Given the description of an element on the screen output the (x, y) to click on. 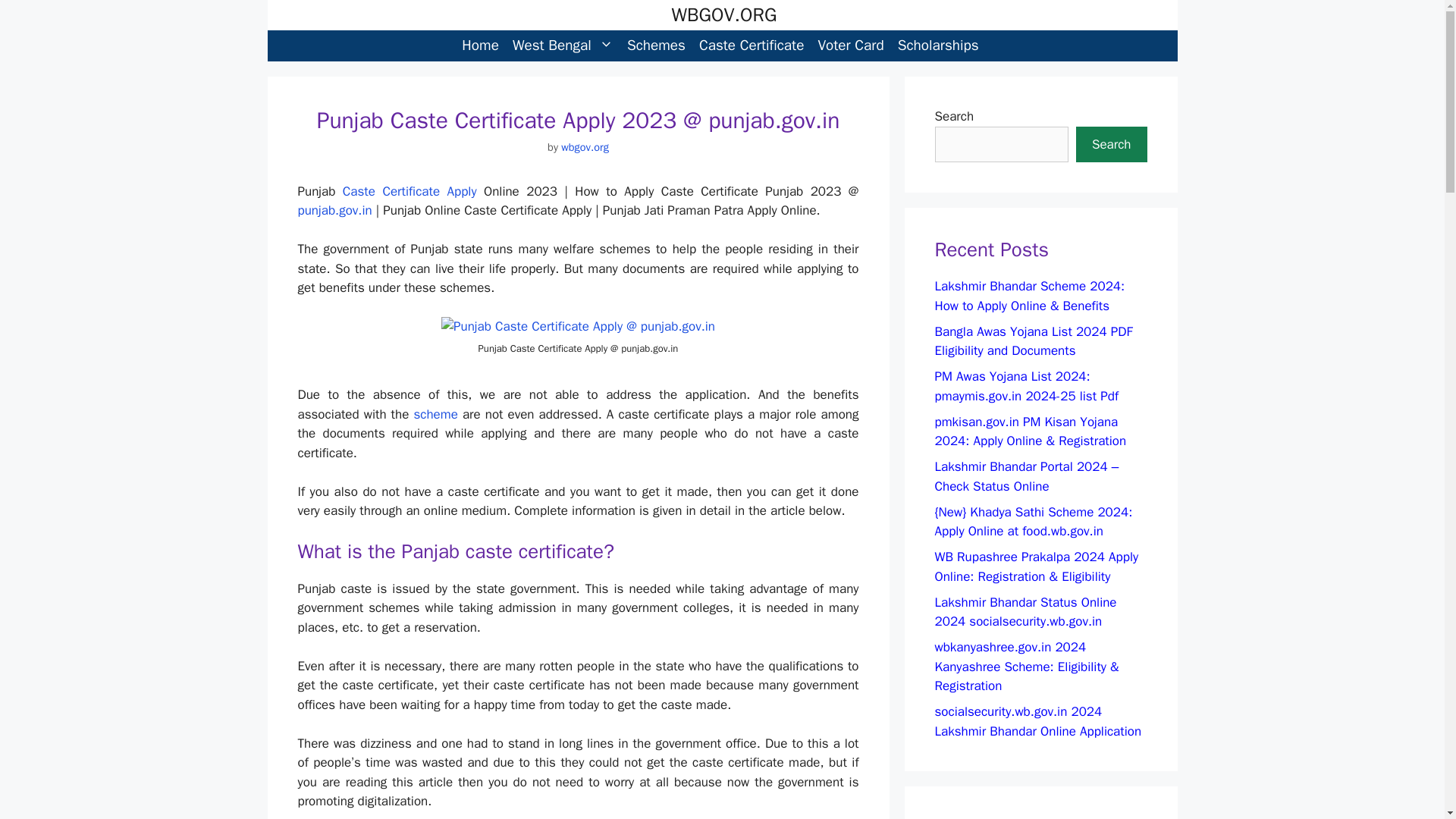
scheme (435, 414)
Home (479, 45)
West Bengal (562, 45)
certificate (410, 191)
apply (461, 191)
punjab.gov.in (334, 210)
caste (358, 191)
Caste (358, 191)
scheme (435, 414)
Certificate (410, 191)
View all posts by wbgov.org (584, 146)
Scholarships (938, 45)
Schemes (656, 45)
Voter Card (849, 45)
Apply (461, 191)
